Given the description of an element on the screen output the (x, y) to click on. 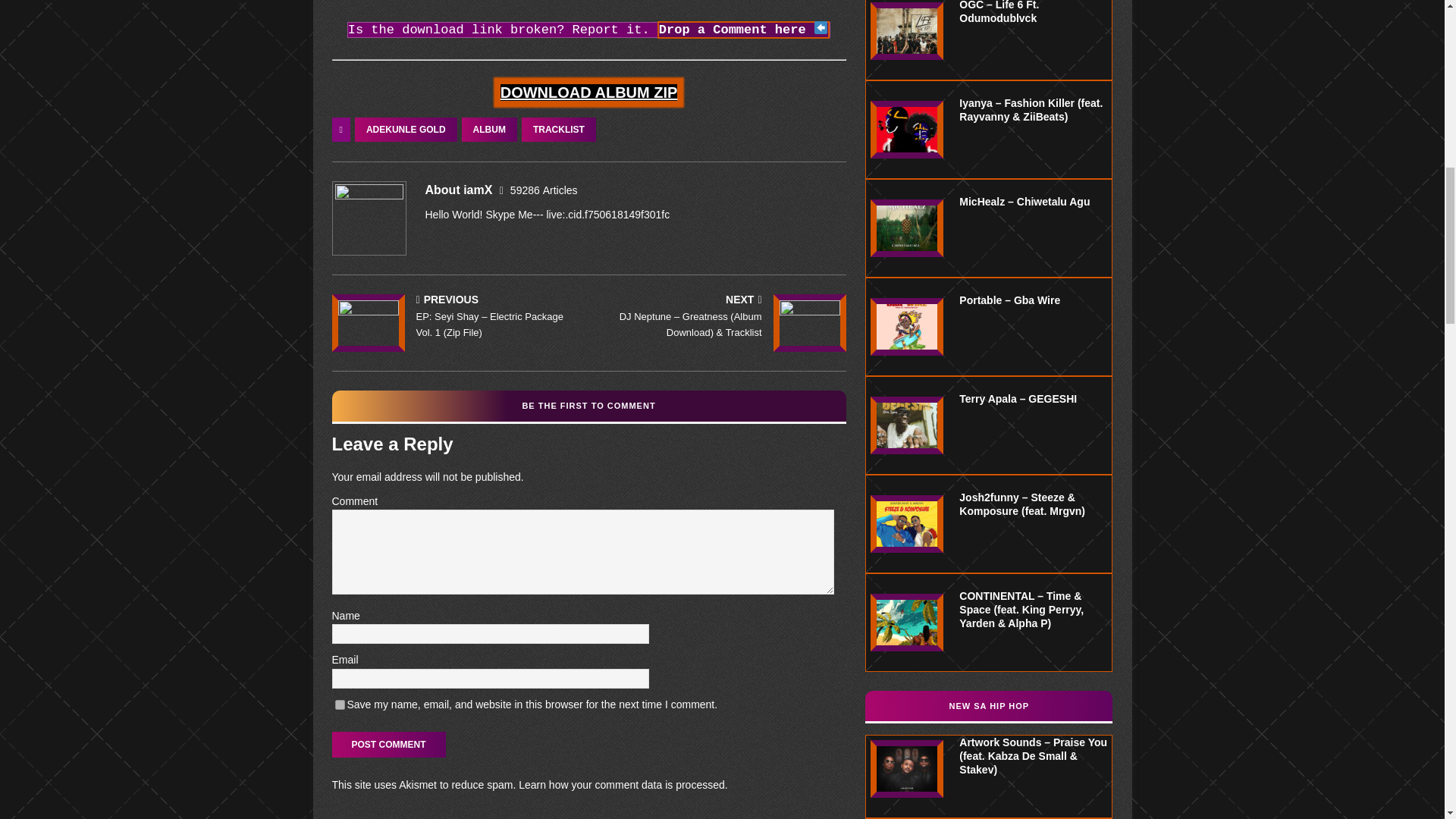
yes (339, 705)
More articles written by iamX' (544, 190)
Post Comment (388, 744)
